Given the description of an element on the screen output the (x, y) to click on. 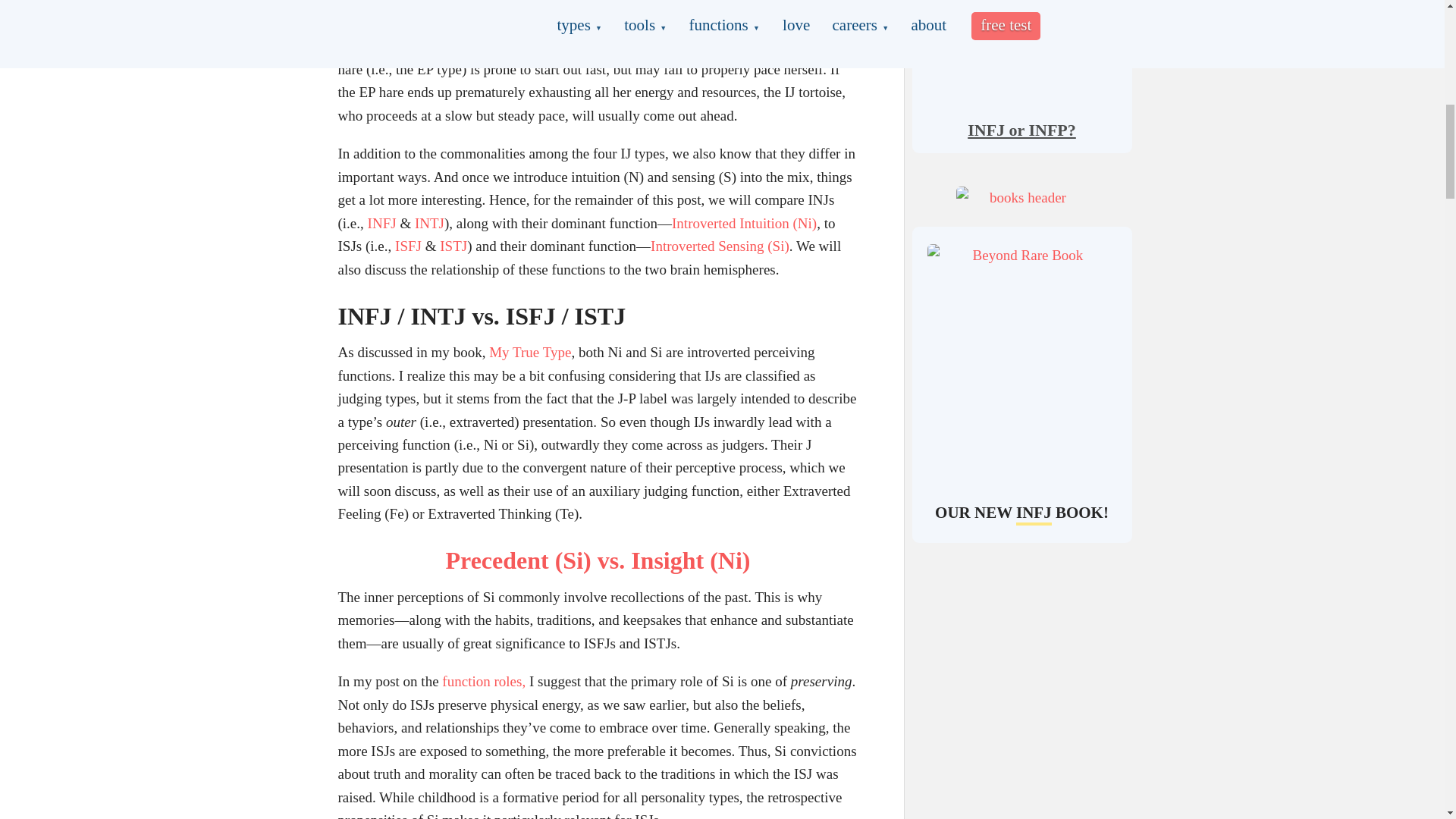
ISFJ (408, 245)
function roles, (483, 681)
ISTJ (453, 245)
INTJ (429, 222)
INFJ (382, 222)
My True Type (529, 351)
